Given the description of an element on the screen output the (x, y) to click on. 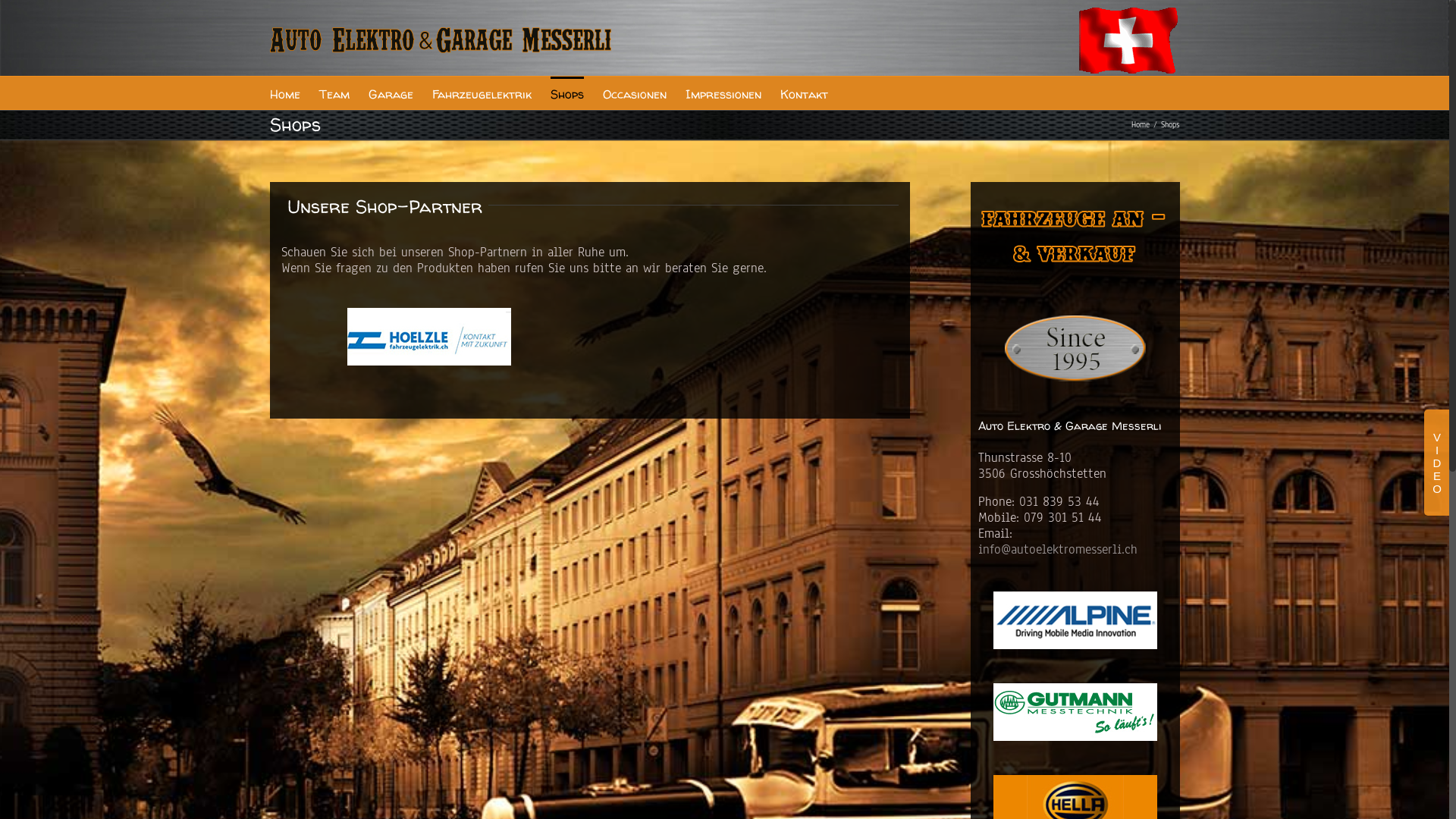
info@autoelektromesserli.ch Element type: text (1057, 549)
Kontakt Element type: text (803, 92)
Home Element type: text (284, 92)
Team Element type: text (333, 92)
Occasionen Element type: text (633, 92)
Home Element type: text (1140, 124)
Garage Element type: text (390, 92)
Toggle Sliding Bar Area Element type: text (1436, 462)
Shops Element type: text (566, 92)
Impressionen Element type: text (723, 92)
Fahrzeugelektrik Element type: text (481, 92)
